Given the description of an element on the screen output the (x, y) to click on. 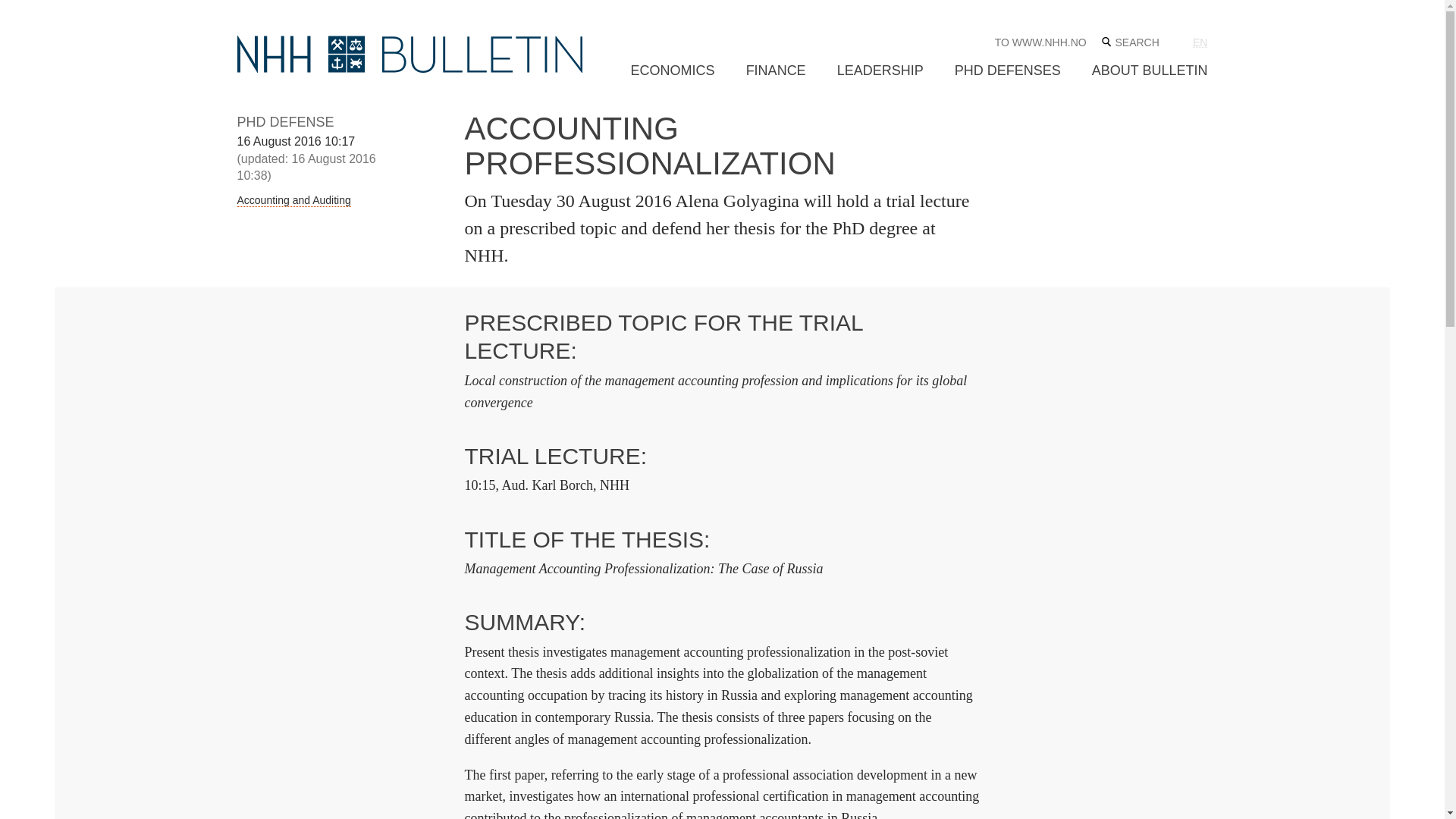
Accounting and Auditing (292, 200)
FINANCE (775, 71)
ECONOMICS (672, 71)
English (1199, 42)
TO WWW.NHH.NO (1040, 41)
ABOUT BULLETIN (1150, 71)
EN (1199, 41)
LEADERSHIP (880, 71)
PHD DEFENSES (1008, 71)
